Given the description of an element on the screen output the (x, y) to click on. 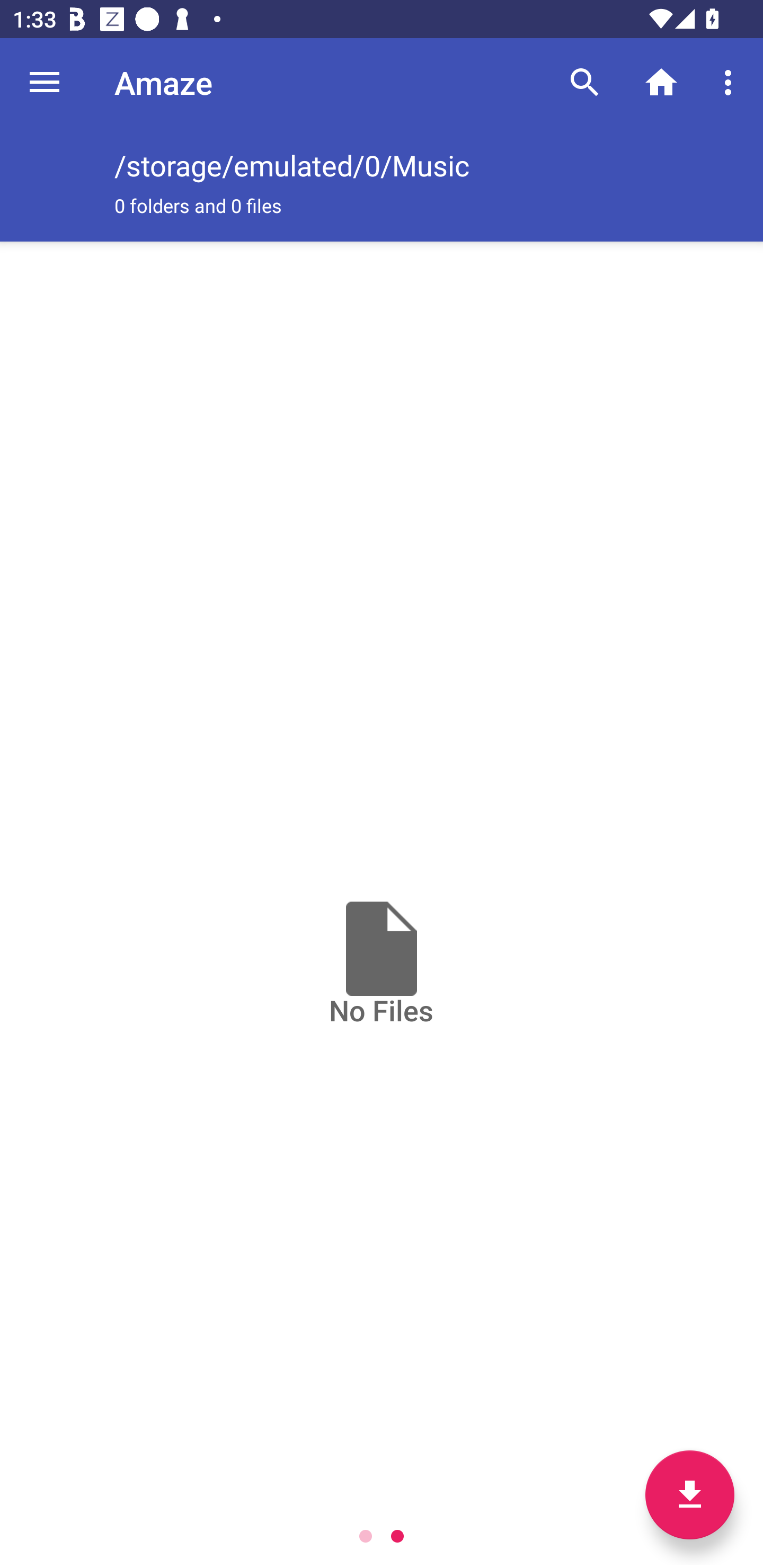
Navigate up (44, 82)
Search (585, 81)
Home (661, 81)
More options (731, 81)
